Given the description of an element on the screen output the (x, y) to click on. 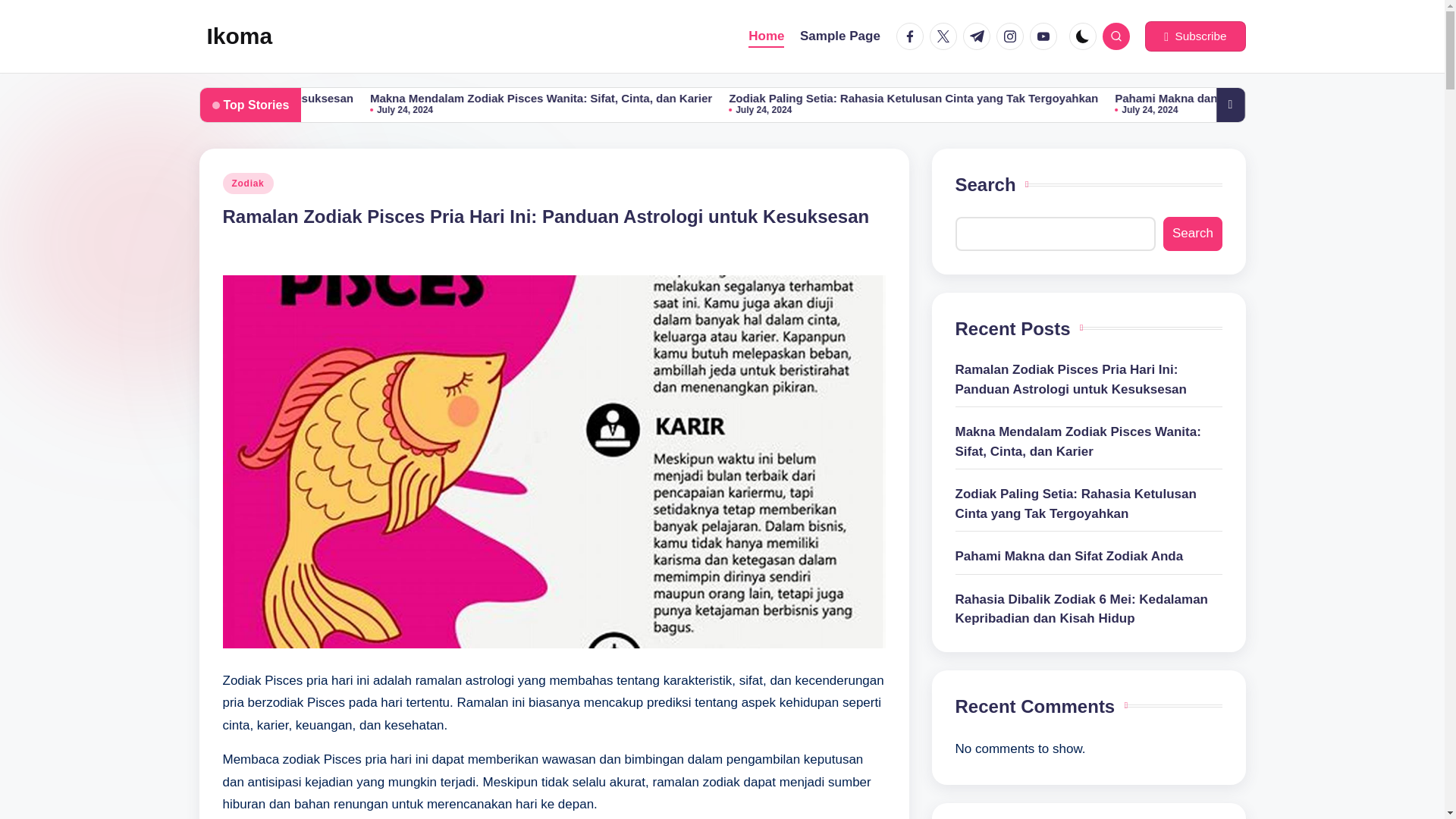
Sample Page (839, 36)
t.me (978, 35)
youtube.com (1045, 35)
Ikoma (239, 36)
facebook.com (913, 35)
Subscribe (1194, 36)
instagram.com (1012, 35)
twitter.com (946, 35)
Home (766, 36)
